Given the description of an element on the screen output the (x, y) to click on. 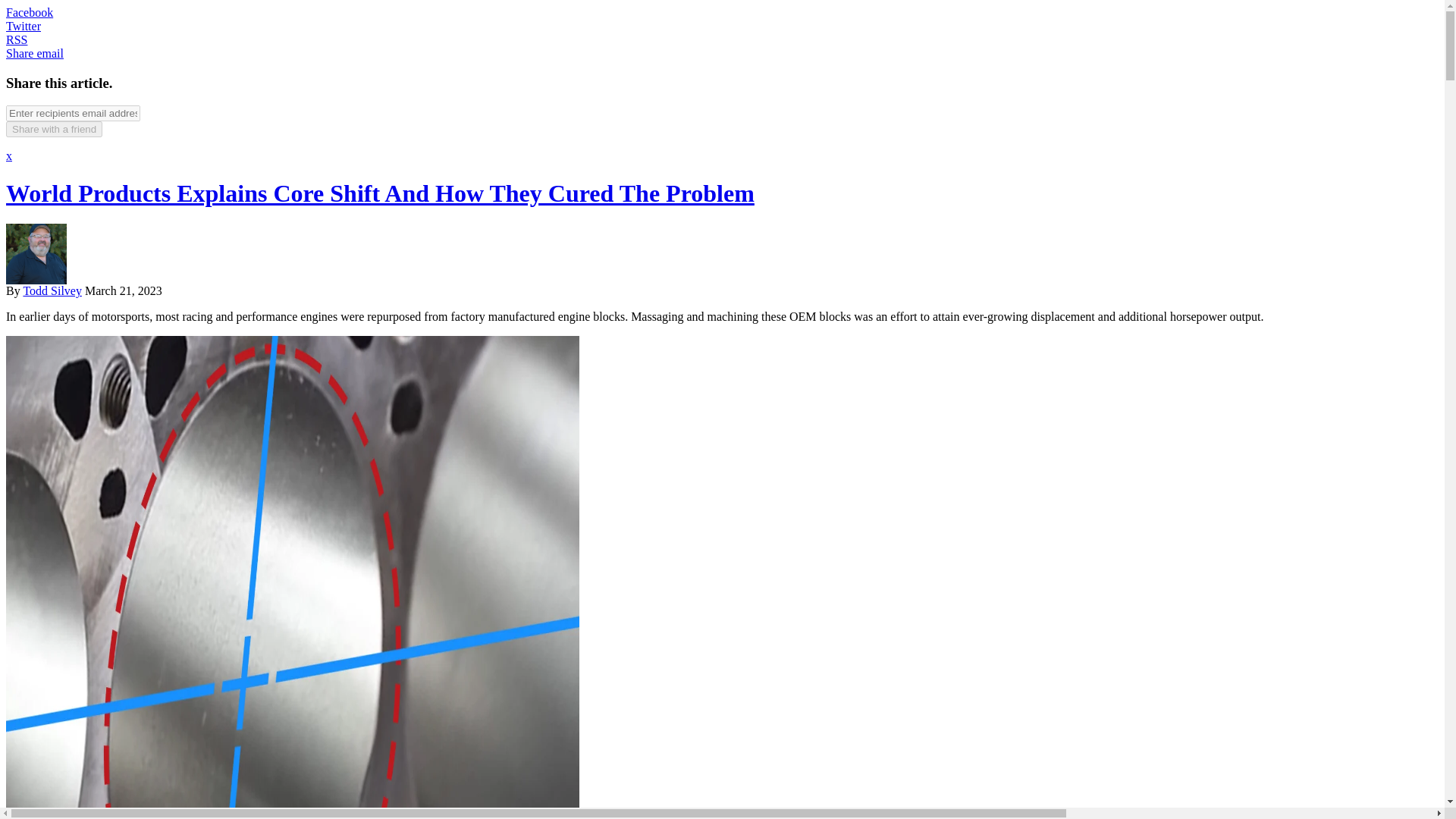
RSS (16, 39)
Facebook (28, 11)
Twitter (22, 25)
Share with a friend (53, 129)
Todd Silvey (52, 290)
Share email (34, 52)
